Given the description of an element on the screen output the (x, y) to click on. 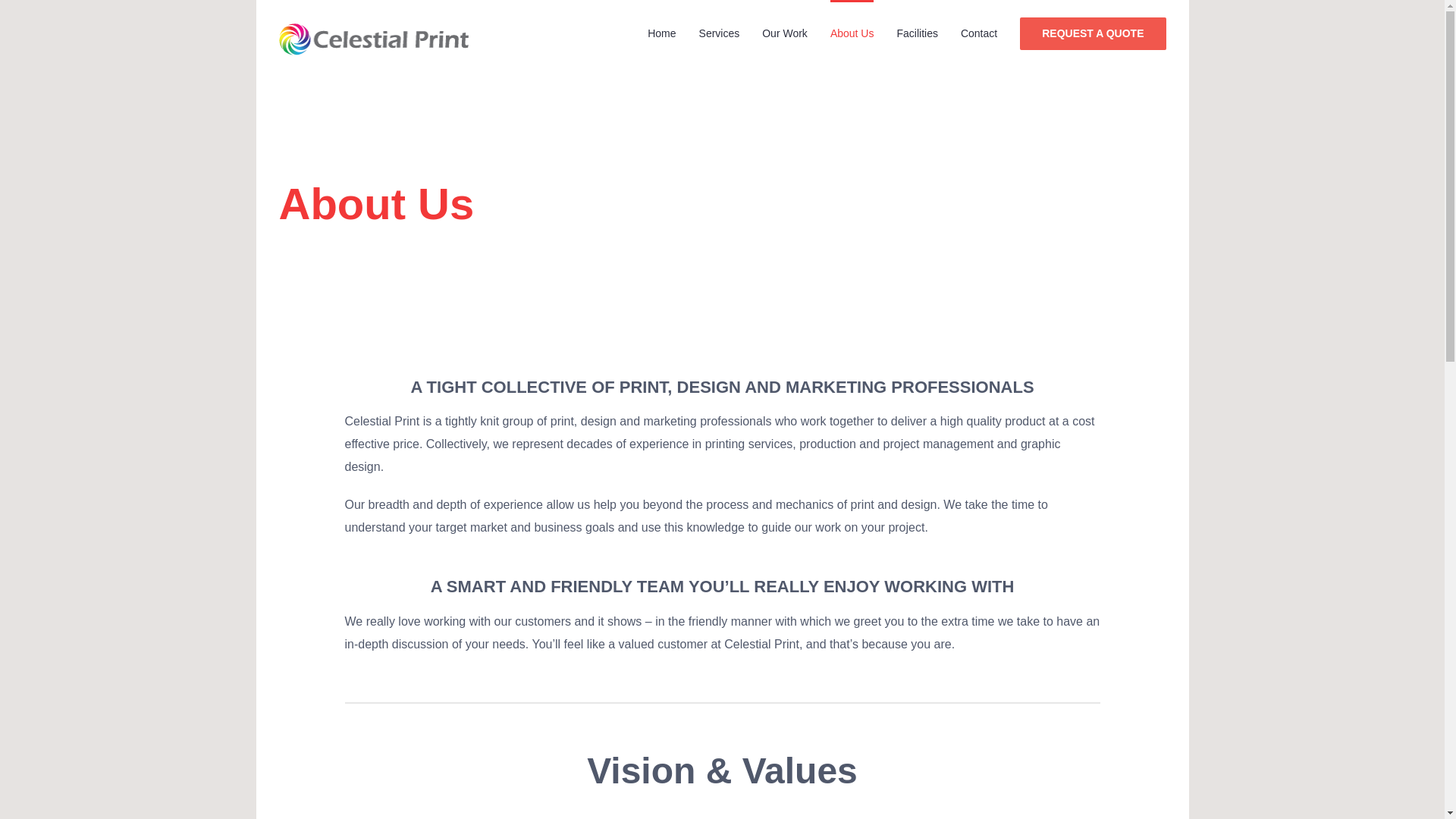
REQUEST A QUOTE (1093, 32)
